Given the description of an element on the screen output the (x, y) to click on. 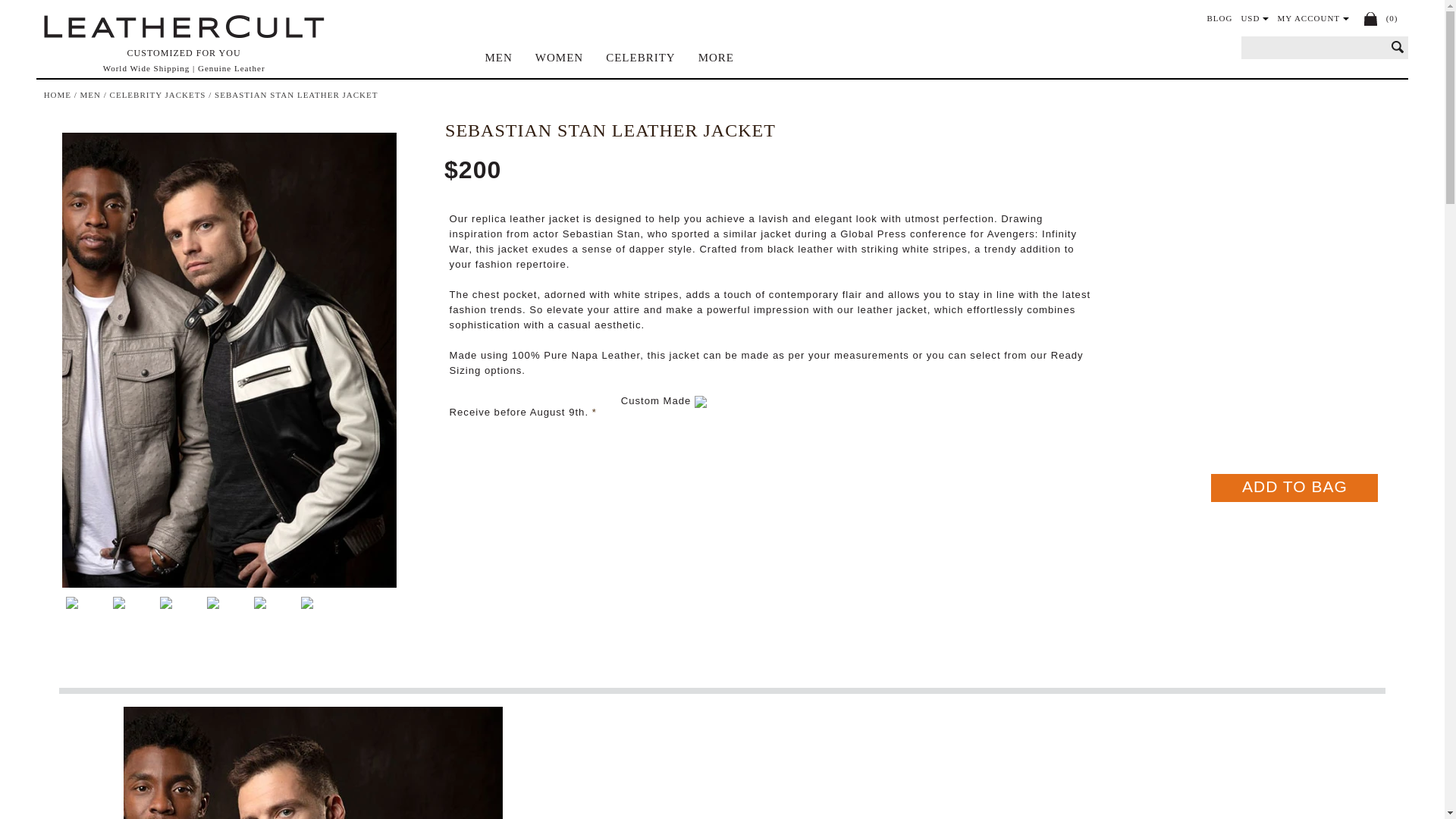
LeatherCult (183, 26)
Blog (1219, 17)
Shopping Cart (1370, 18)
Sebastian Stan Leather Jacket (229, 359)
